Given the description of an element on the screen output the (x, y) to click on. 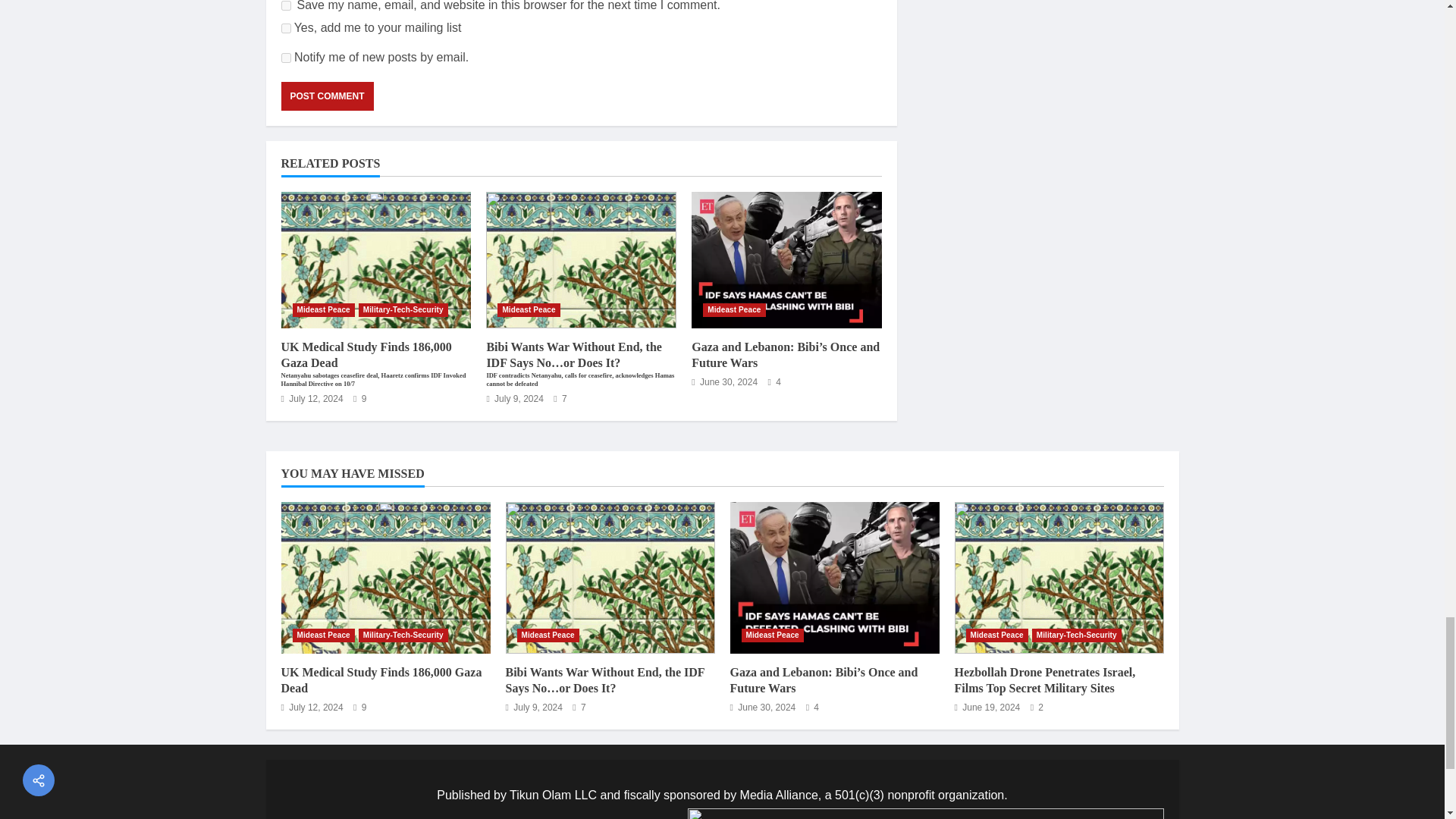
yes (285, 5)
subscribe (285, 58)
1 (285, 28)
Post Comment (326, 95)
